Given the description of an element on the screen output the (x, y) to click on. 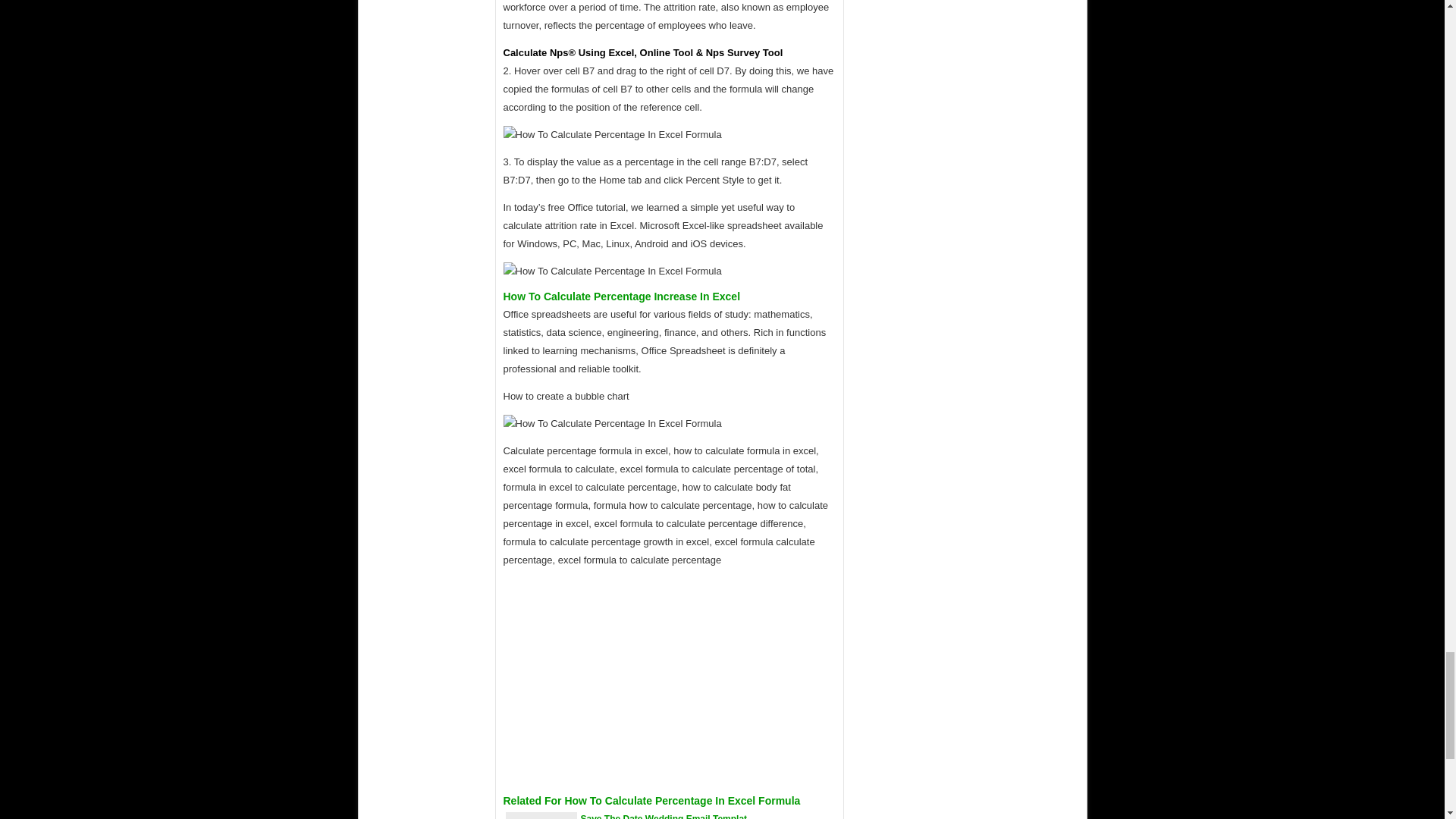
Save The Date Wedding Email Templat (664, 816)
